Given the description of an element on the screen output the (x, y) to click on. 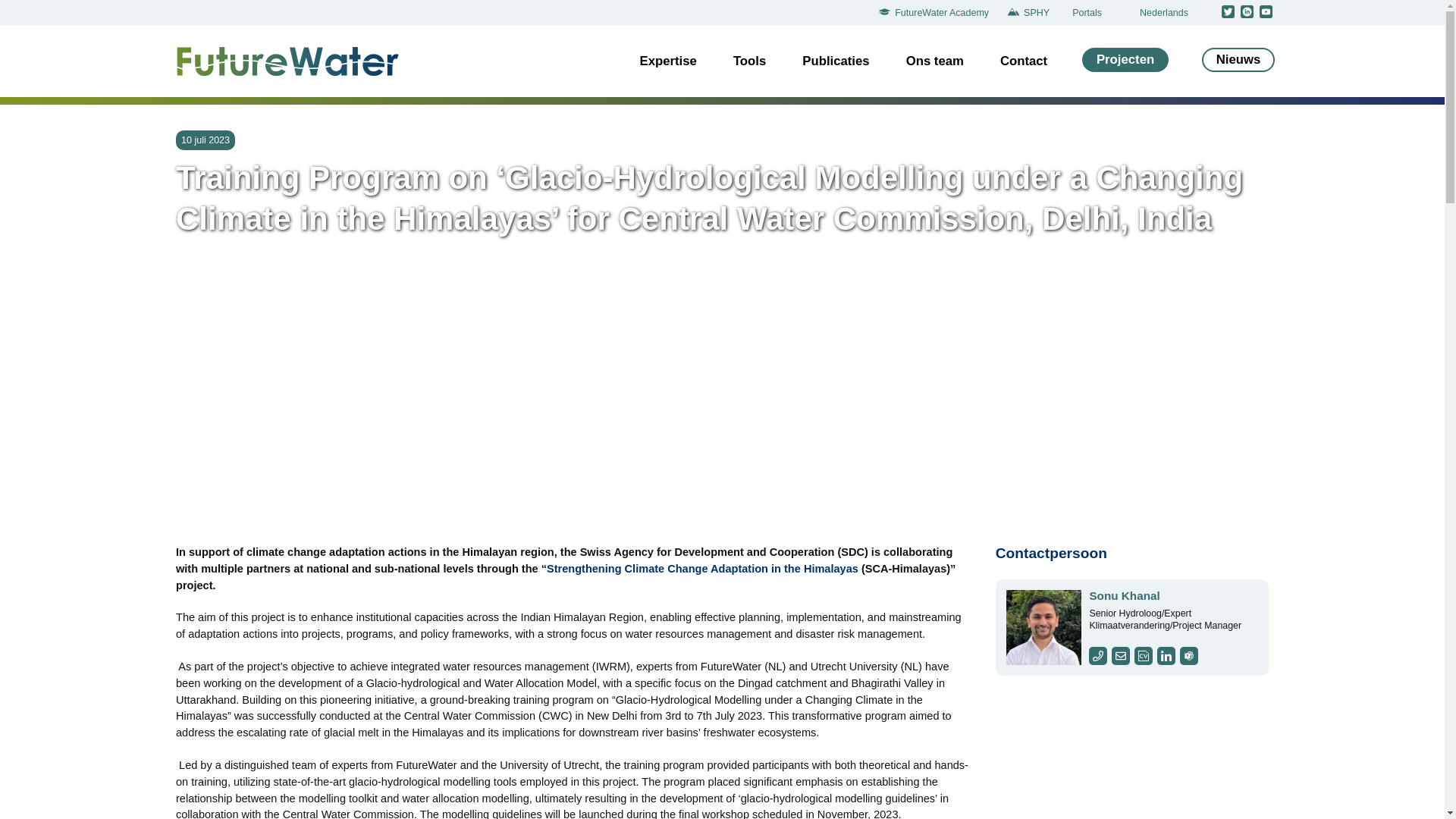
Bezoek de FutureWater Academy website (936, 13)
Bezoek de SPHY website (1032, 13)
